Given the description of an element on the screen output the (x, y) to click on. 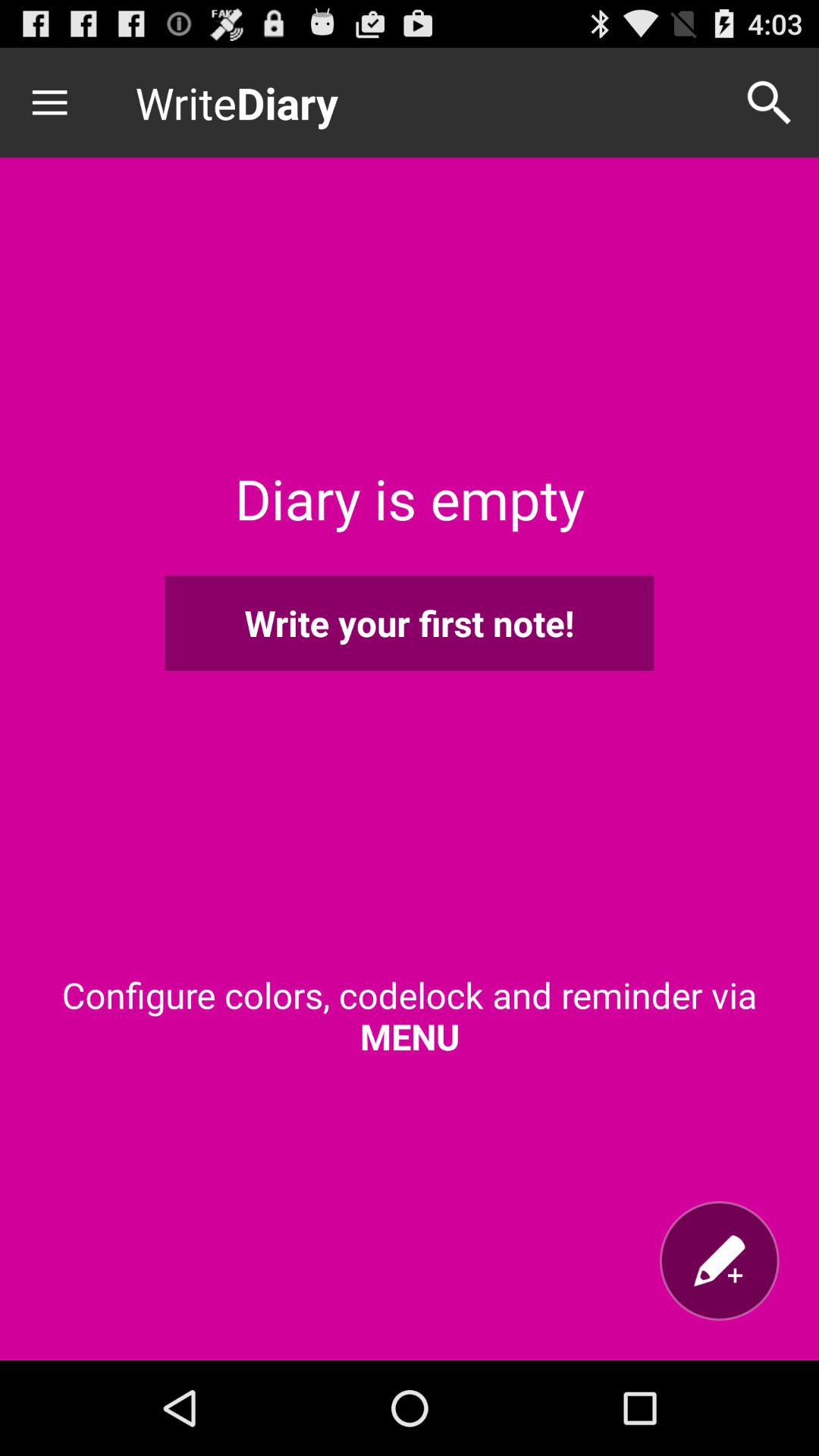
jump to the configure colors codelock item (409, 1015)
